Given the description of an element on the screen output the (x, y) to click on. 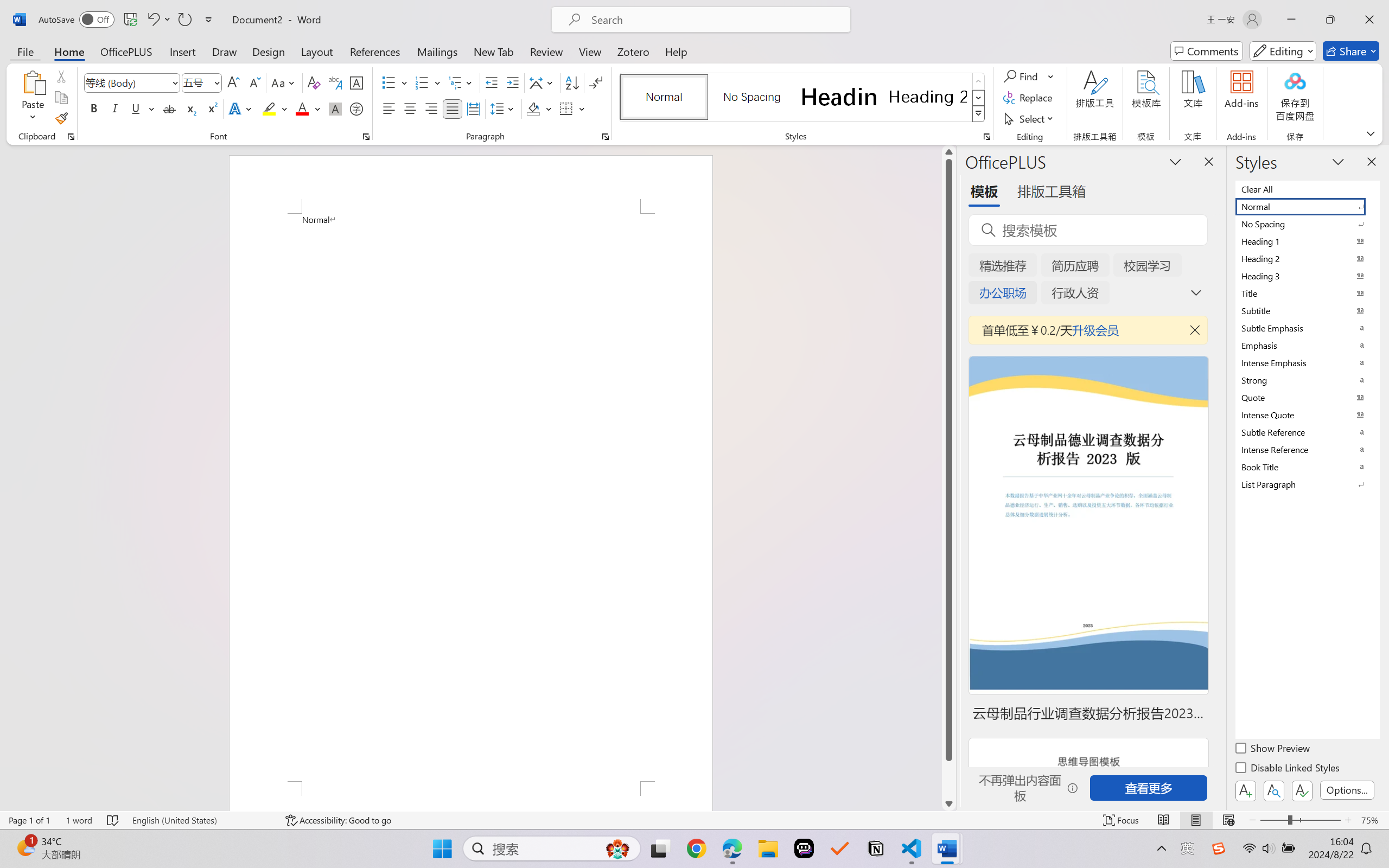
Read Mode (1163, 819)
